Given the description of an element on the screen output the (x, y) to click on. 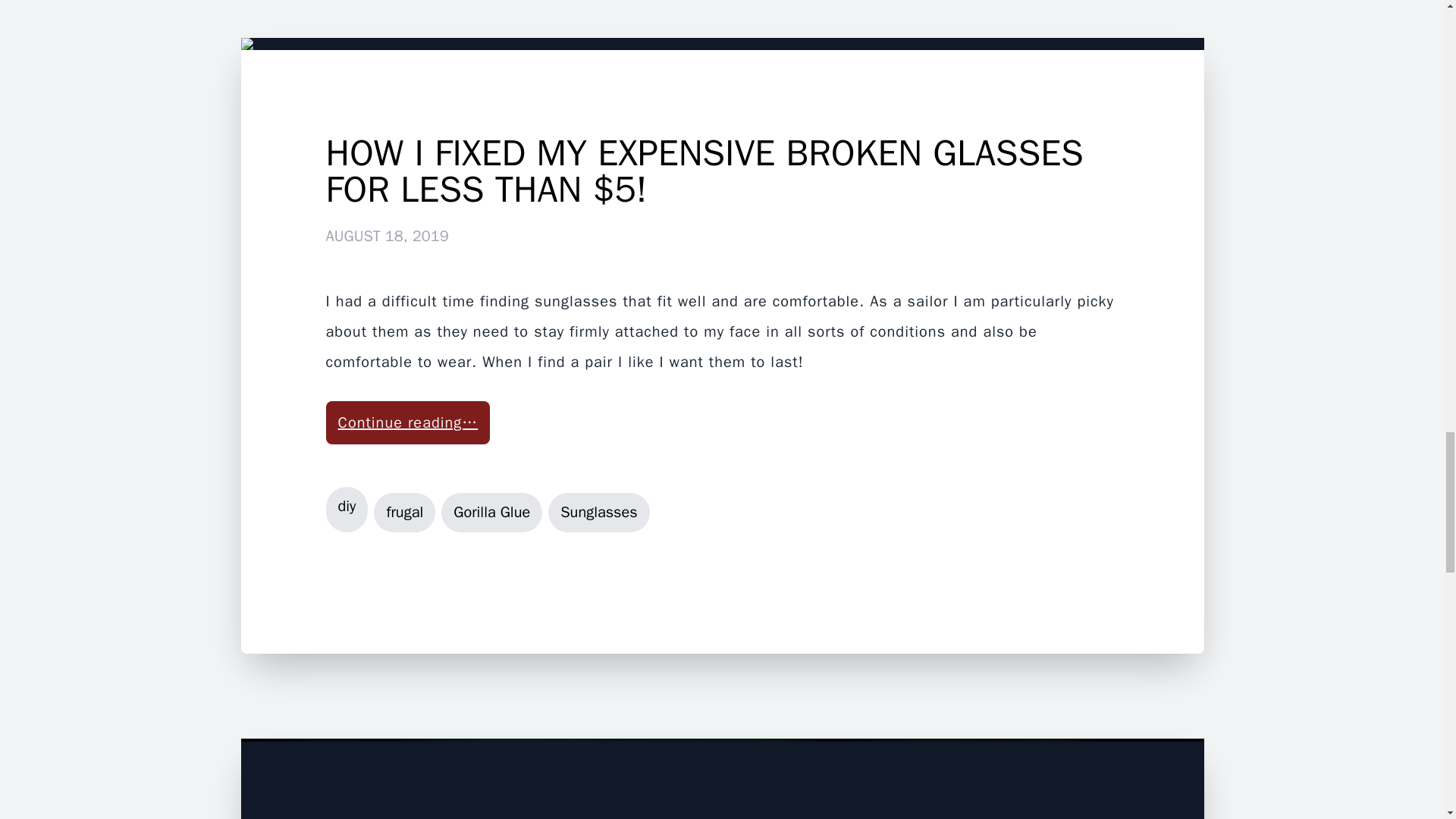
Gorilla Glue Tag (491, 512)
frugal Tag (404, 512)
diy (347, 509)
Sunglasses Tag (598, 512)
diy Tag (347, 509)
